Given the description of an element on the screen output the (x, y) to click on. 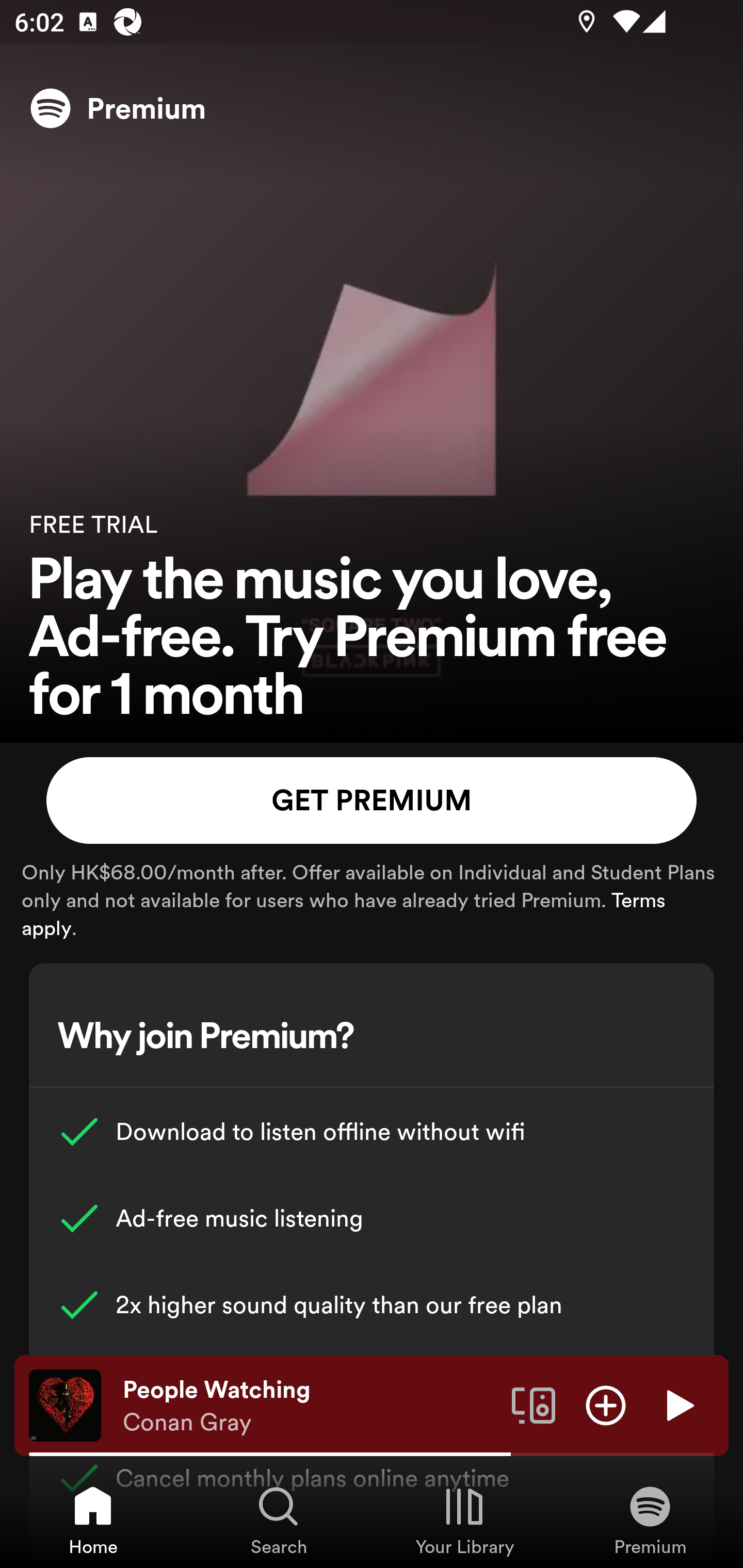
GET PREMIUM (371, 800)
People Watching Conan Gray (309, 1405)
The cover art of the currently playing track (64, 1404)
Connect to a device. Opens the devices menu (533, 1404)
Add item (605, 1404)
Play (677, 1404)
Home, Tab 1 of 4 Home Home (92, 1519)
Search, Tab 2 of 4 Search Search (278, 1519)
Your Library, Tab 3 of 4 Your Library Your Library (464, 1519)
Premium, Tab 4 of 4 Premium Premium (650, 1519)
